Given the description of an element on the screen output the (x, y) to click on. 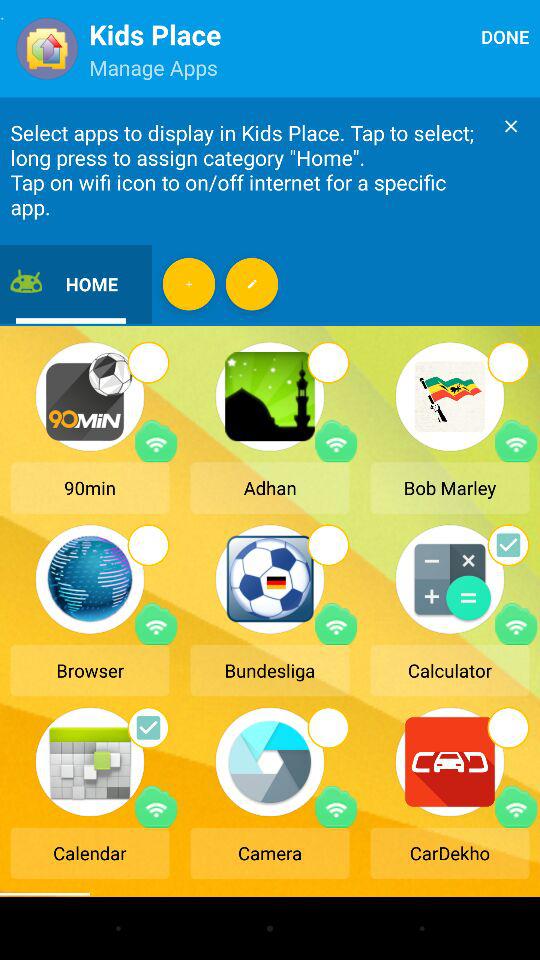
click on close button (510, 125)
select the icon beside kids place (47, 48)
click on check box under 90min (148, 362)
click on check box under calender (148, 727)
go to the circle image above the browser (148, 545)
the circle shown at the top of second image in the first row (328, 362)
